Given the description of an element on the screen output the (x, y) to click on. 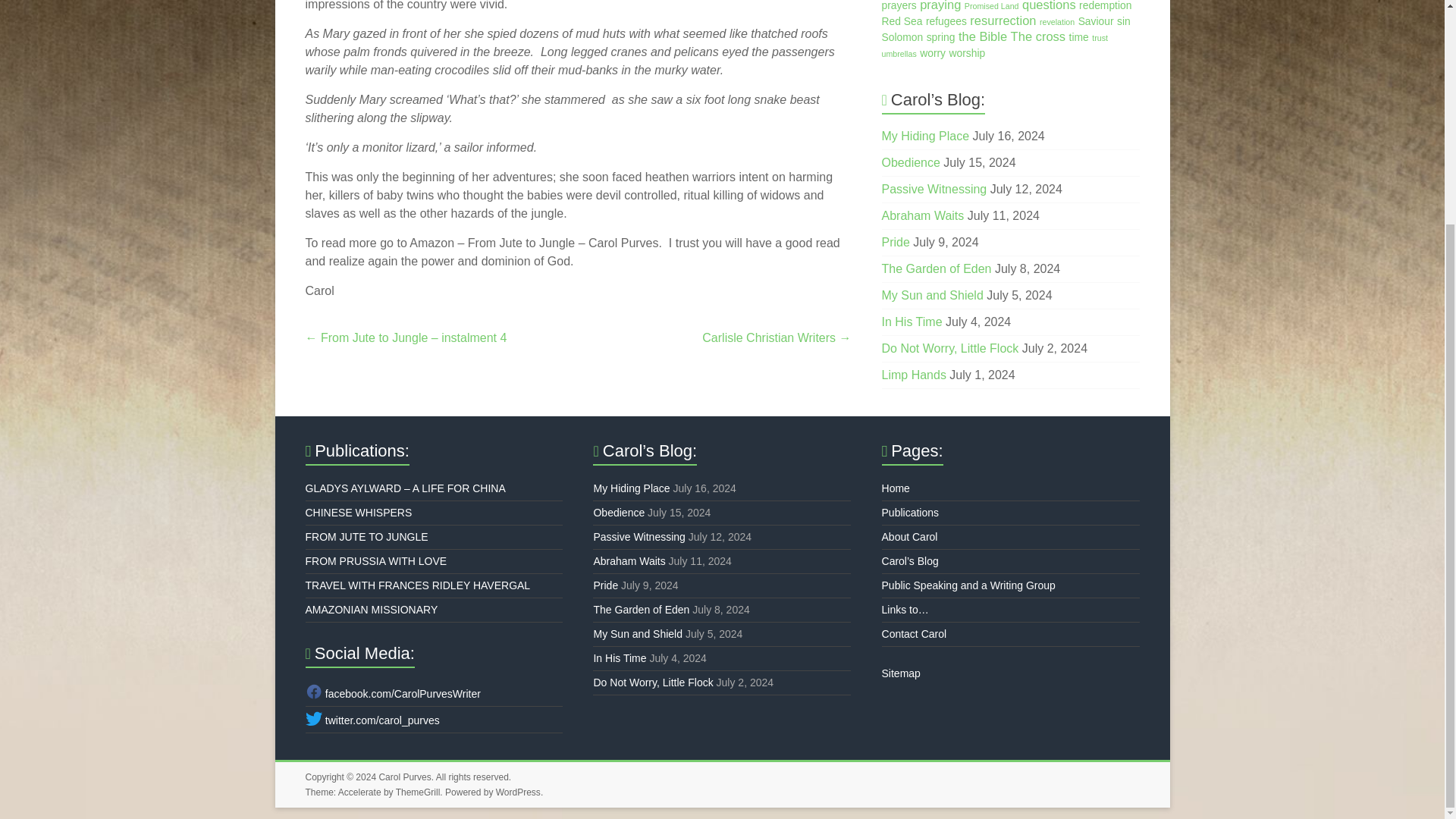
Carol Purves (404, 777)
WordPress (518, 792)
Accelerate (359, 792)
